Given the description of an element on the screen output the (x, y) to click on. 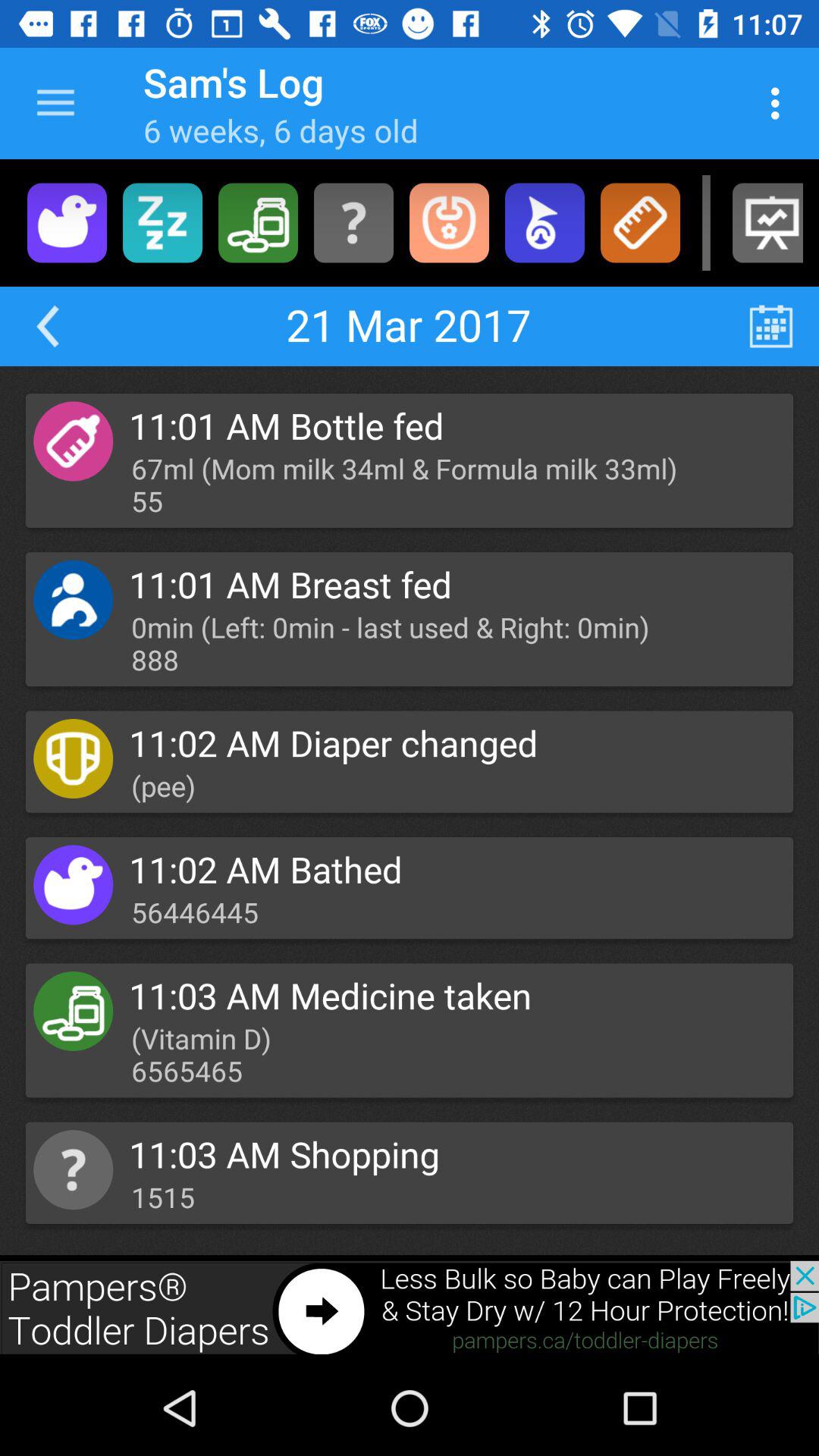
go to advertisement (353, 222)
